Given the description of an element on the screen output the (x, y) to click on. 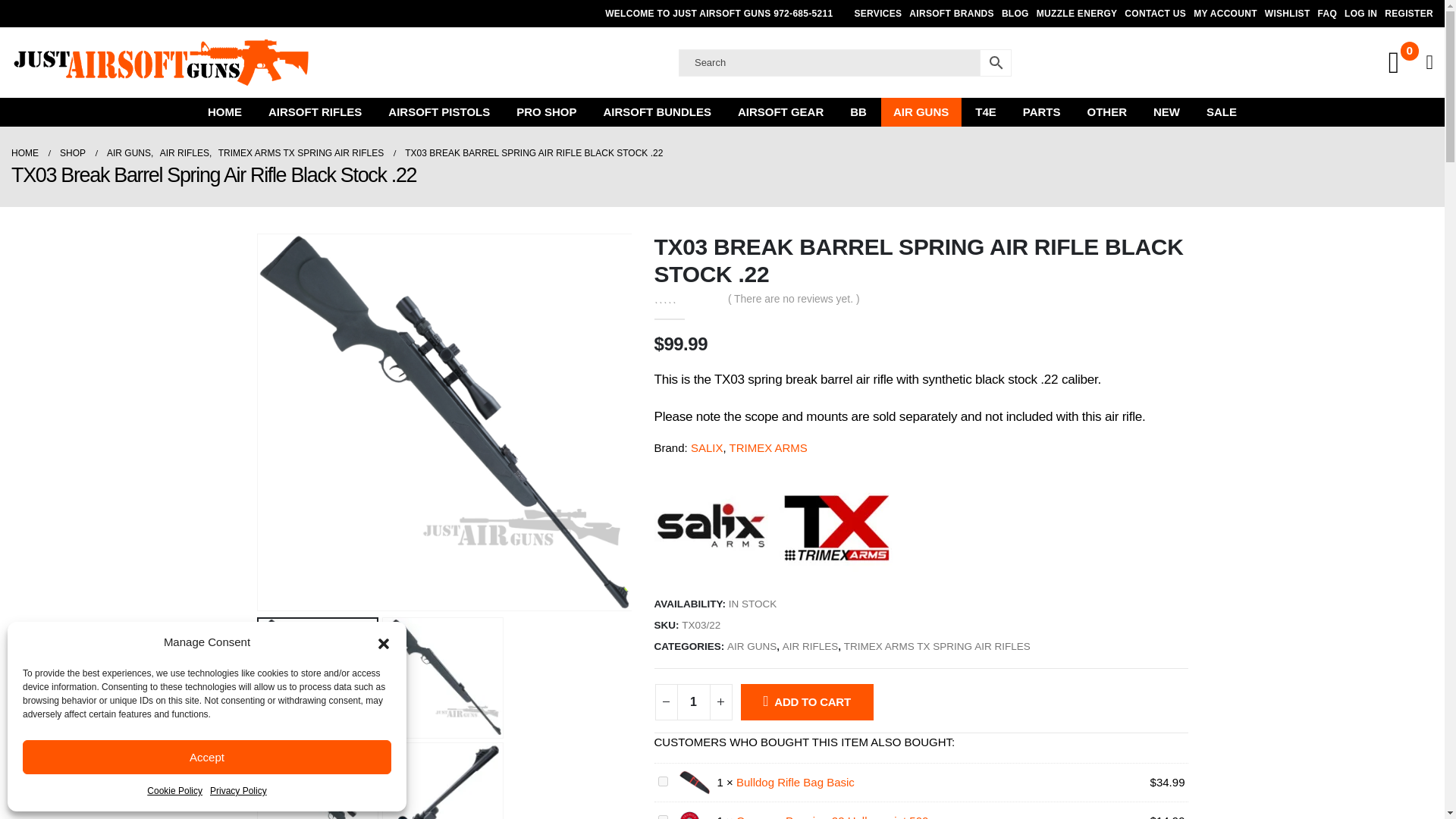
MUZZLE ENERGY (1076, 13)
29699 (663, 781)
HOME (224, 111)
Accept (207, 756)
MY ACCOUNT (1224, 13)
SERVICES (877, 13)
AIRSOFT BRANDS (951, 13)
29838 (663, 816)
Privacy Policy (237, 791)
1 (693, 701)
Cookie Policy (174, 791)
WISHLIST (1287, 13)
BLOG (1014, 13)
FAQ (1327, 13)
AIRSOFT RIFLES (315, 111)
